Given the description of an element on the screen output the (x, y) to click on. 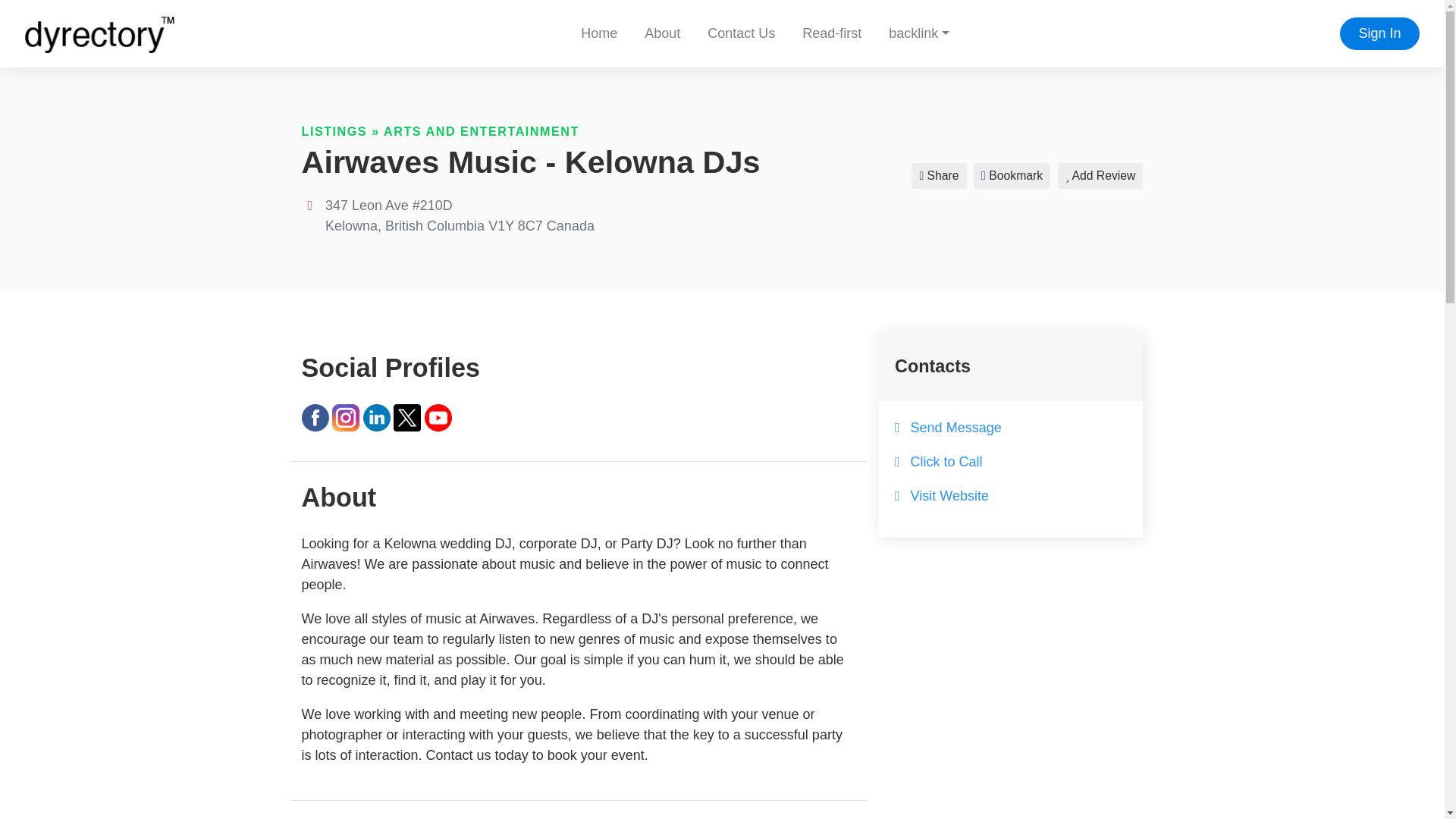
ARTS AND ENTERTAINMENT (481, 131)
Home (598, 33)
LISTINGS (334, 131)
Read-first (832, 33)
backlink (918, 33)
Contact Us (741, 33)
About (662, 33)
Sign In (1379, 33)
Bookmark (1011, 175)
Add Review (1100, 175)
